Given the description of an element on the screen output the (x, y) to click on. 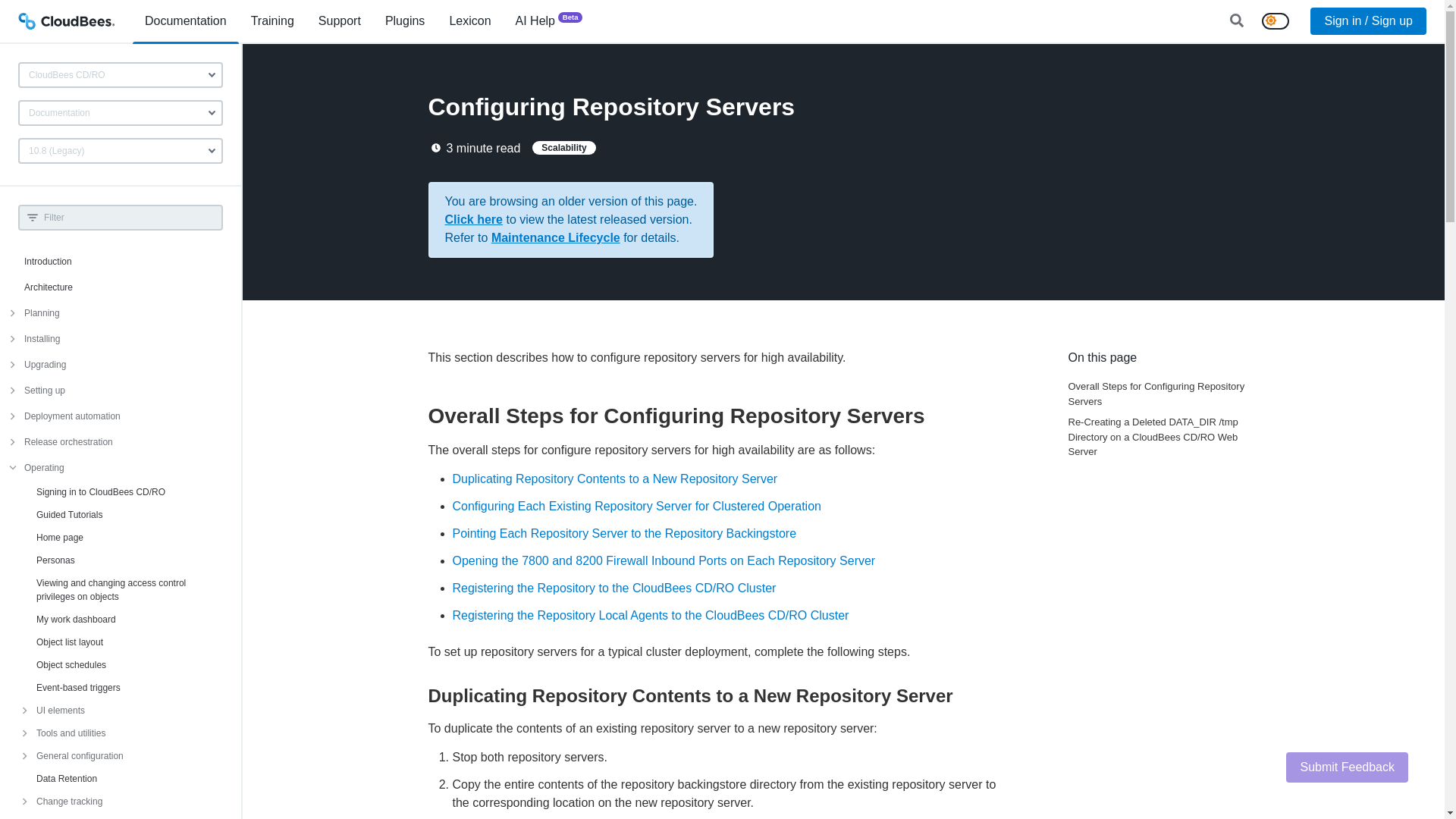
Support (338, 21)
Setting up (120, 390)
Documentation (119, 112)
Planning (120, 312)
Upgrading (120, 364)
Training (271, 21)
Deployment automation (120, 416)
AI HelpBeta (549, 21)
Installing (120, 338)
